Given the description of an element on the screen output the (x, y) to click on. 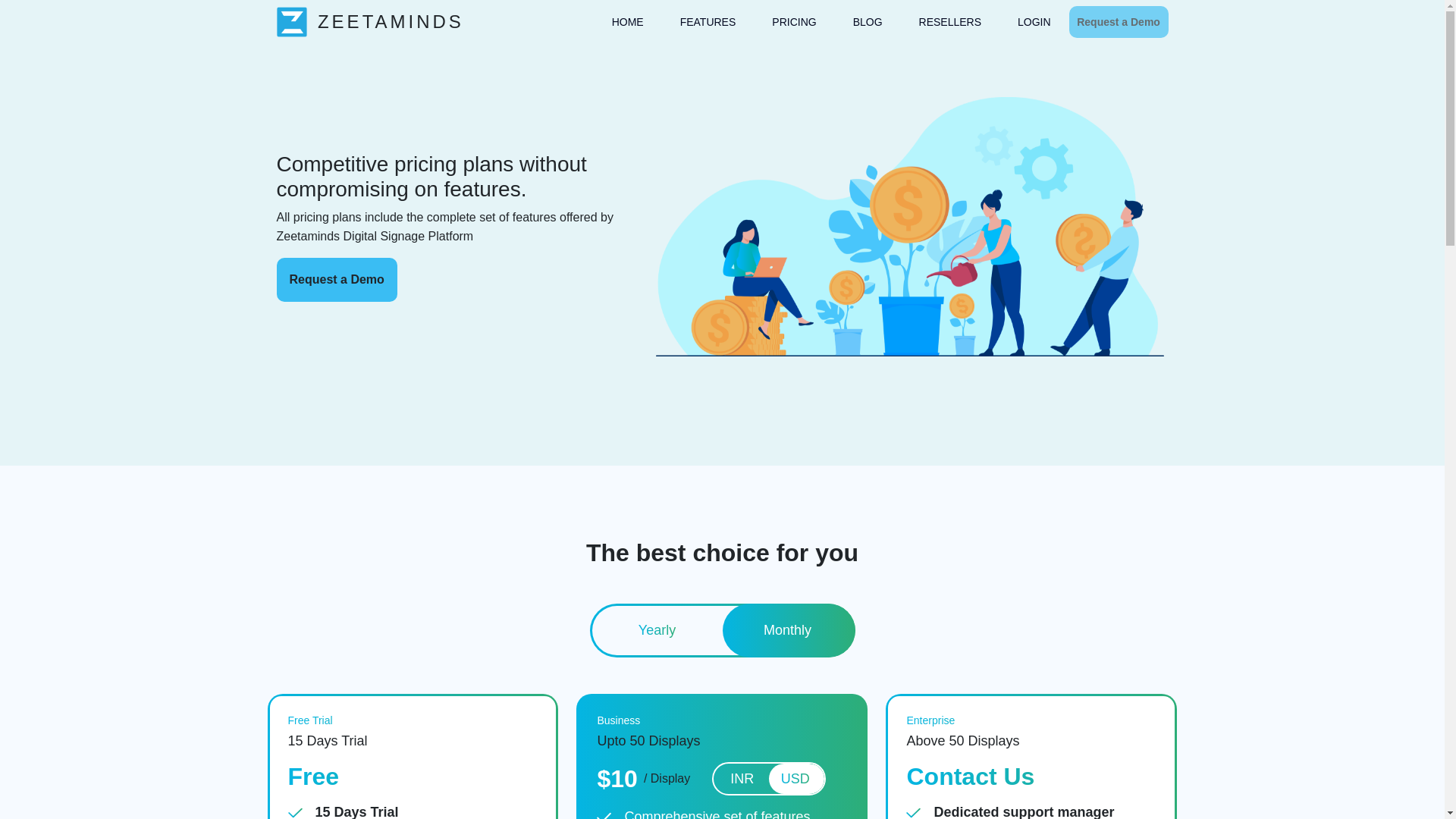
Request a Demo (336, 279)
BLOG (867, 22)
USD (795, 778)
HOME (627, 22)
FEATURES (707, 22)
ZEETAMINDS (369, 20)
LOGIN (1034, 22)
Yearly (656, 630)
RESELLERS (949, 22)
Monthly (786, 630)
Request a Demo (1118, 21)
INR (742, 778)
PRICING (793, 22)
